Given the description of an element on the screen output the (x, y) to click on. 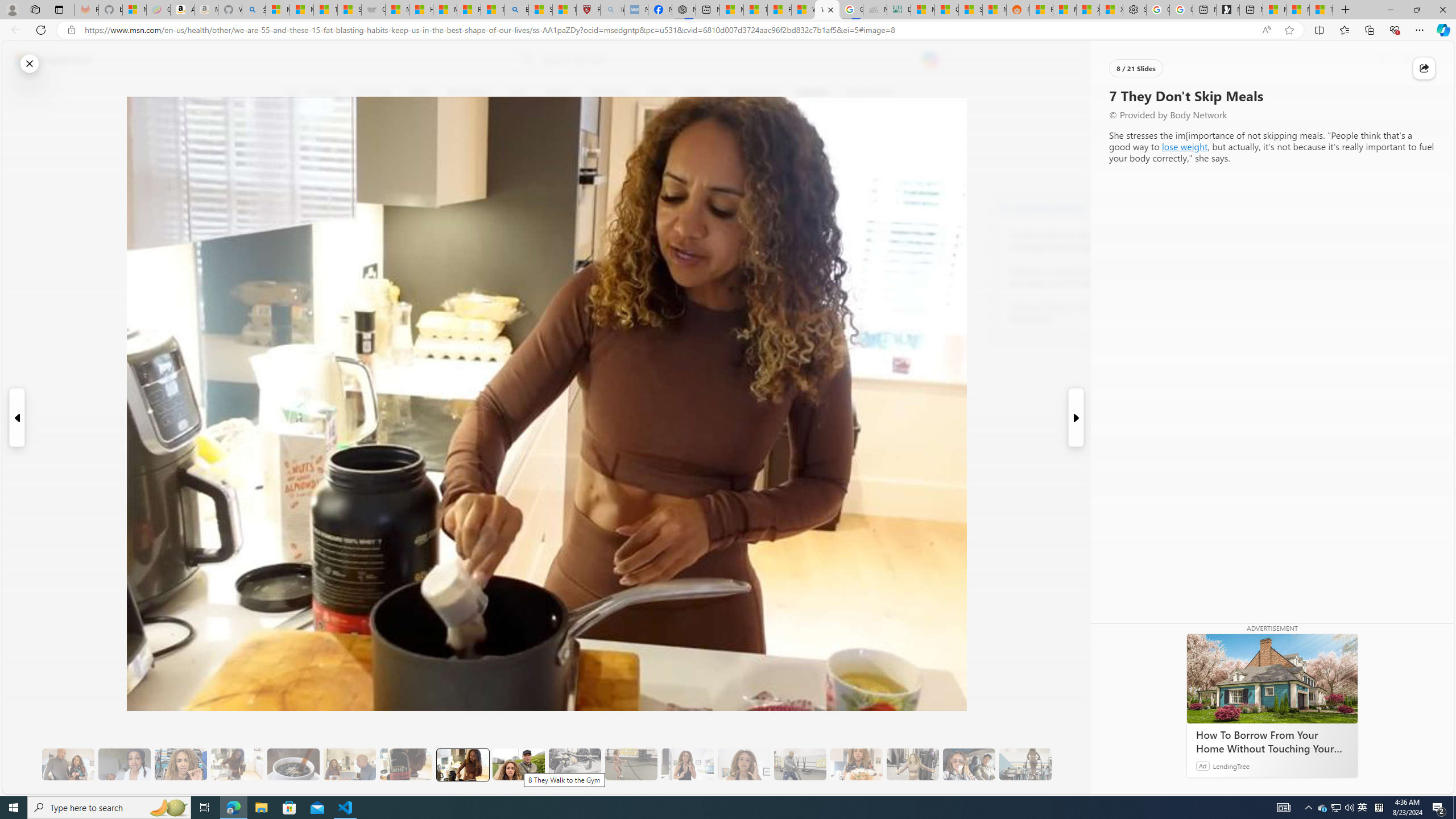
14 Common Myths Debunked By Scientific Facts (754, 9)
Politics (698, 92)
Entertainment (753, 92)
8 Reasons to Drink Kombucha, According to a Nutritionist (1071, 277)
To get missing image descriptions, open the context menu. (1109, 92)
Microsoft account | Privacy (277, 9)
16 The Couple's Program Helps with Accountability (968, 764)
These 3 Stocks Pay You More Than 5% to Own Them (1321, 9)
Visit Body Network website (1145, 207)
Navy Quest (874, 9)
